Given the description of an element on the screen output the (x, y) to click on. 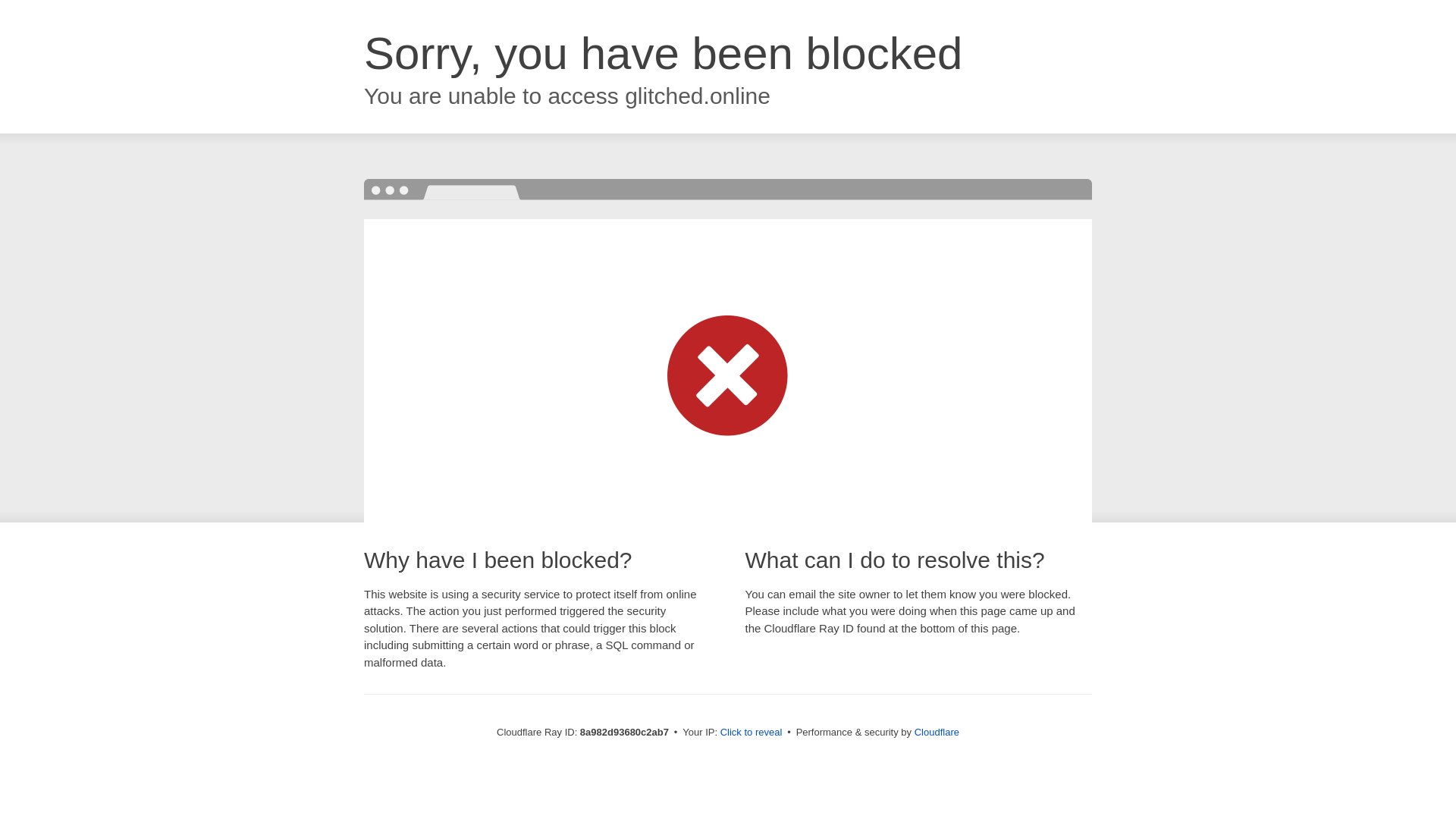
Click to reveal (751, 732)
Cloudflare (936, 731)
